Given the description of an element on the screen output the (x, y) to click on. 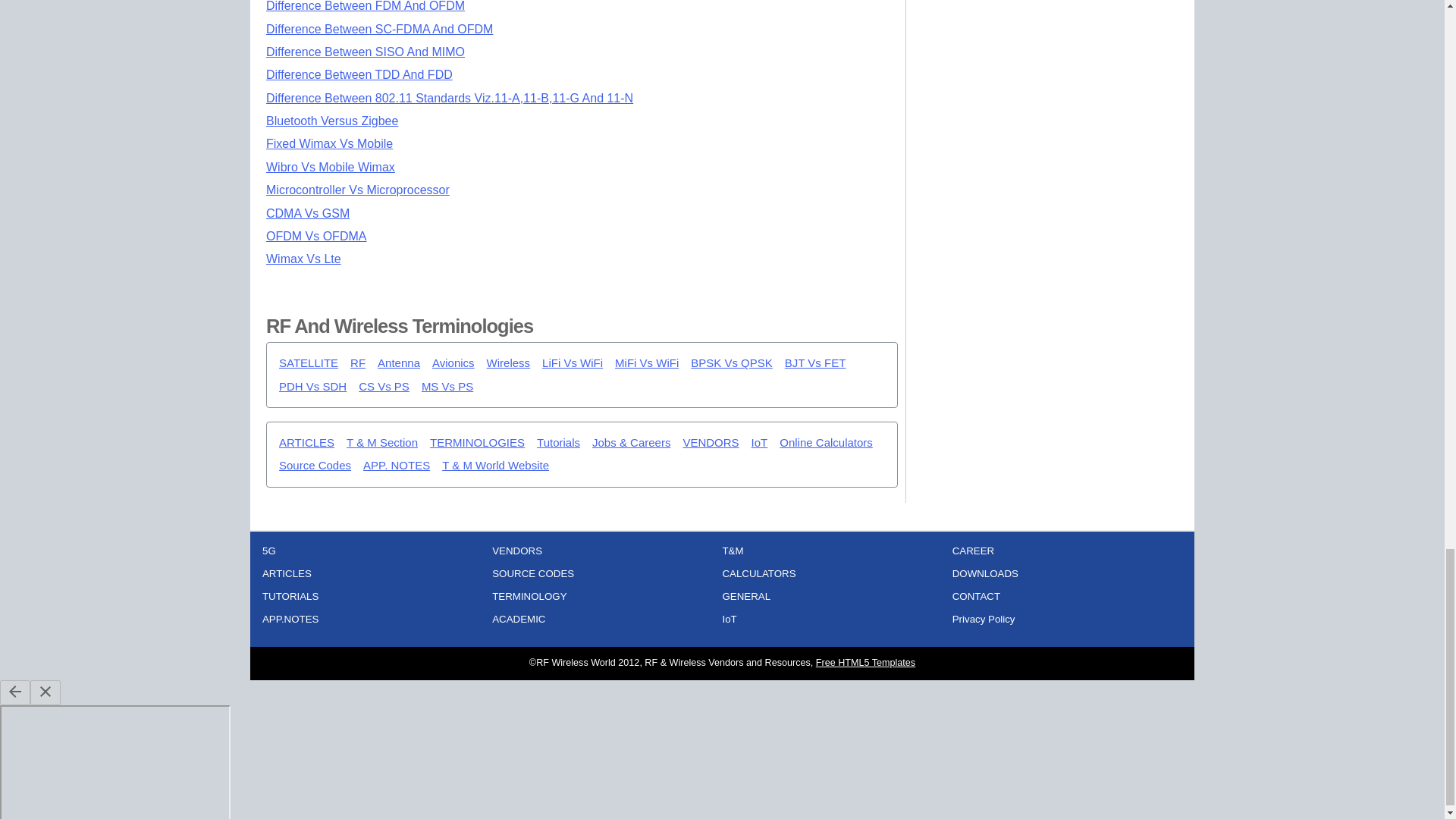
Difference Between SISO And MIMO (365, 51)
OFDM Vs OFDMA (316, 236)
Difference between SC-FDMA and OFDM (379, 28)
Avionics (453, 363)
Difference between SISO and MIMO (365, 51)
Difference Between FDM And OFDM (365, 6)
Antenna (398, 363)
CDMA Vs GSM (307, 213)
Wibro Vs Mobile Wimax (330, 166)
Fixed Wimax Vs Mobile (329, 143)
Bluetooth Versus Zigbee (331, 120)
difference between FDM and OFDM (365, 6)
